Given the description of an element on the screen output the (x, y) to click on. 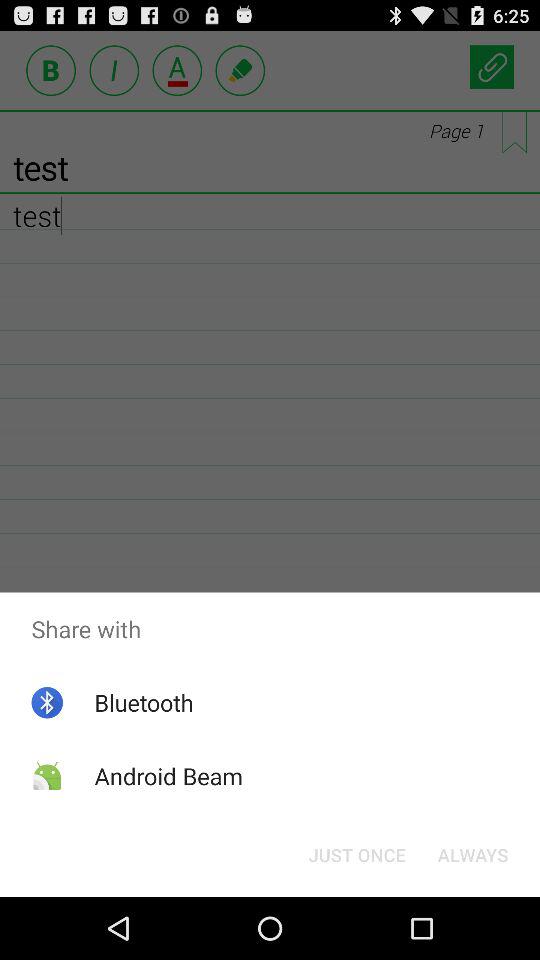
choose always button (472, 854)
